Given the description of an element on the screen output the (x, y) to click on. 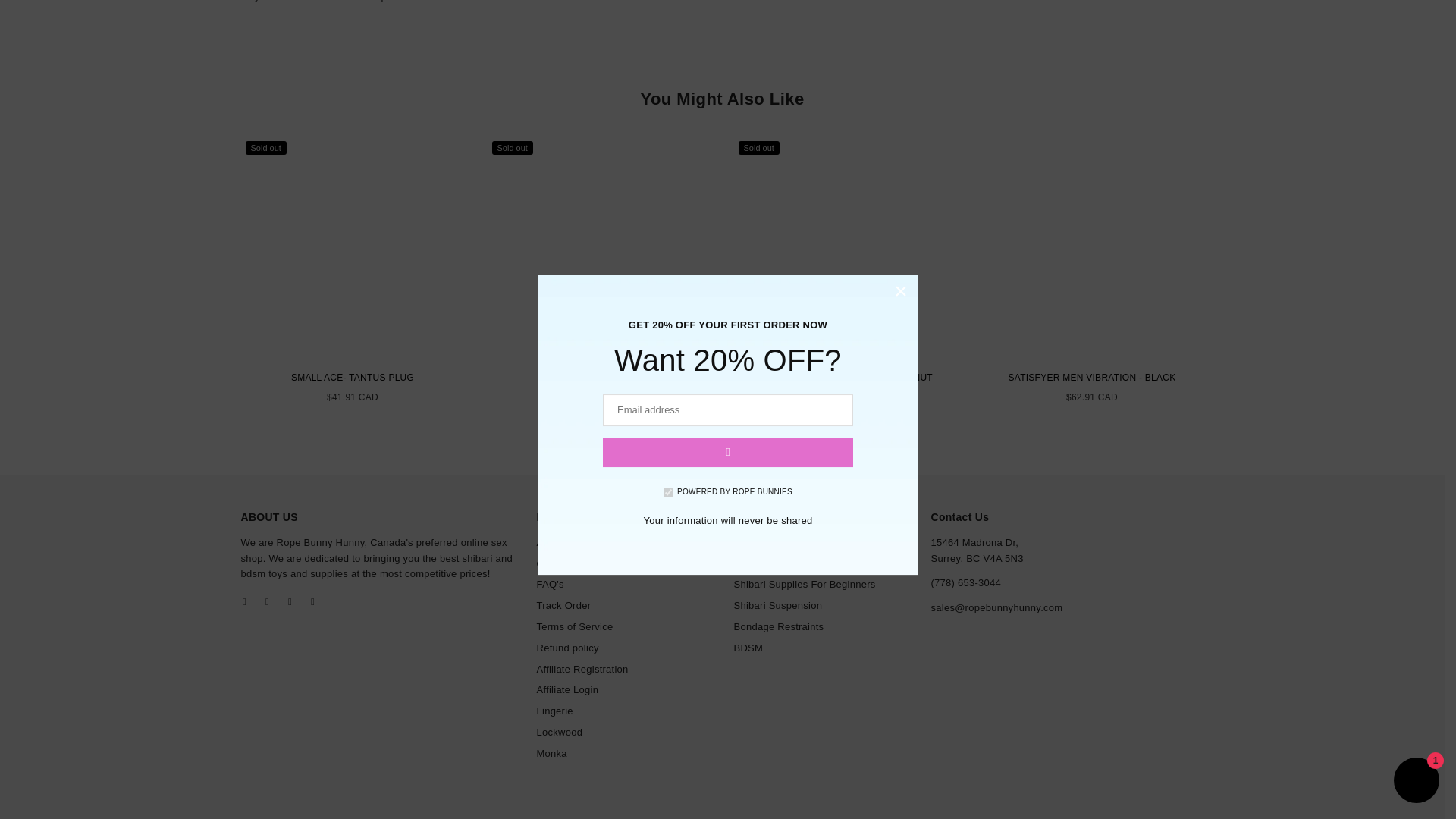
American Express (970, 816)
Shop Pay (1156, 816)
Diners Club (1032, 816)
Apple Pay (1001, 816)
Mastercard (1126, 816)
Google Pay (1094, 816)
Visa (1188, 816)
Discover (1064, 816)
